Given the description of an element on the screen output the (x, y) to click on. 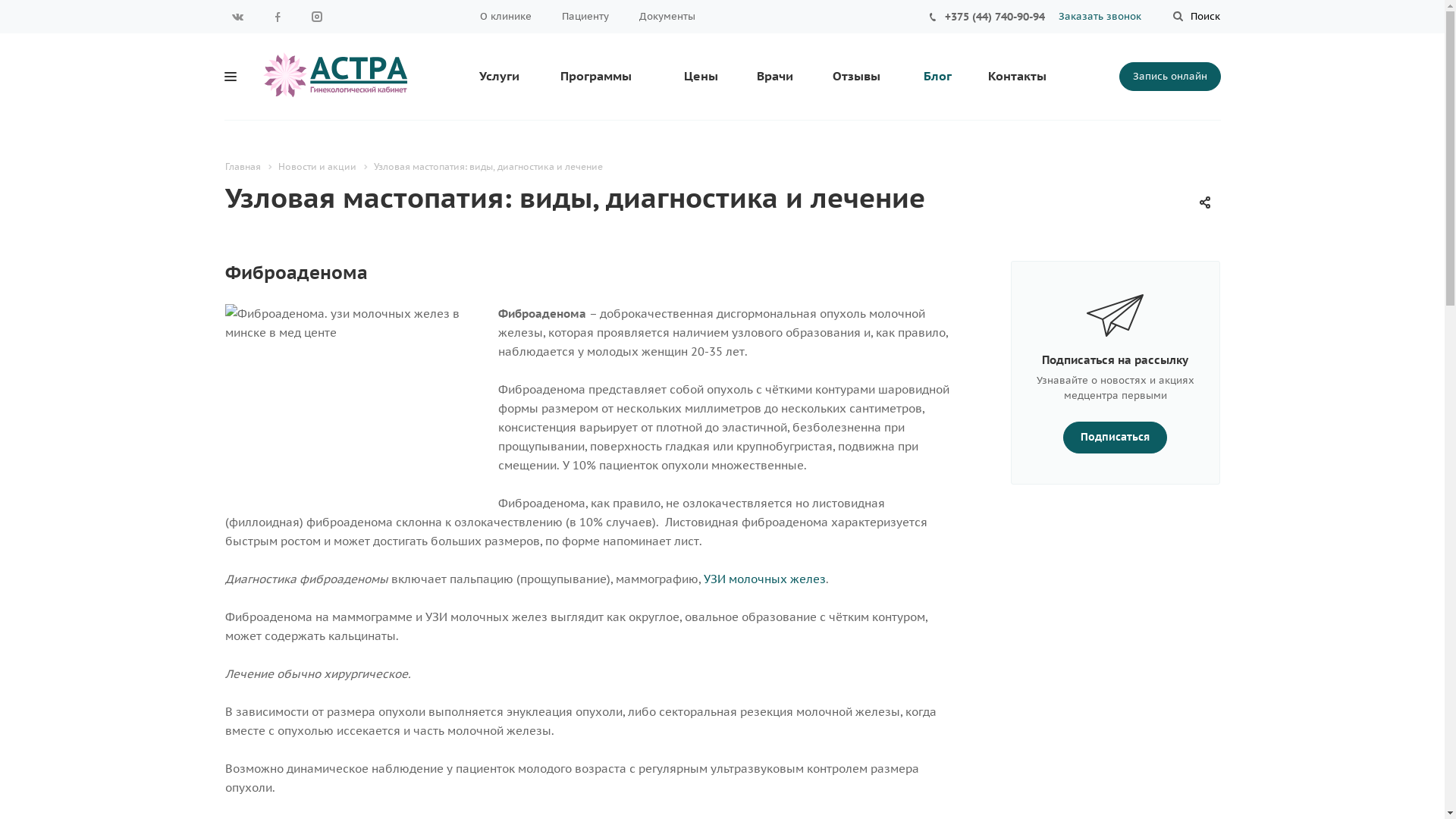
Instagram Element type: text (316, 16)
+375 (44) 740-90-94 Element type: text (994, 16)
astramed.by Element type: hover (337, 74)
Facebook Element type: text (276, 16)
